Given the description of an element on the screen output the (x, y) to click on. 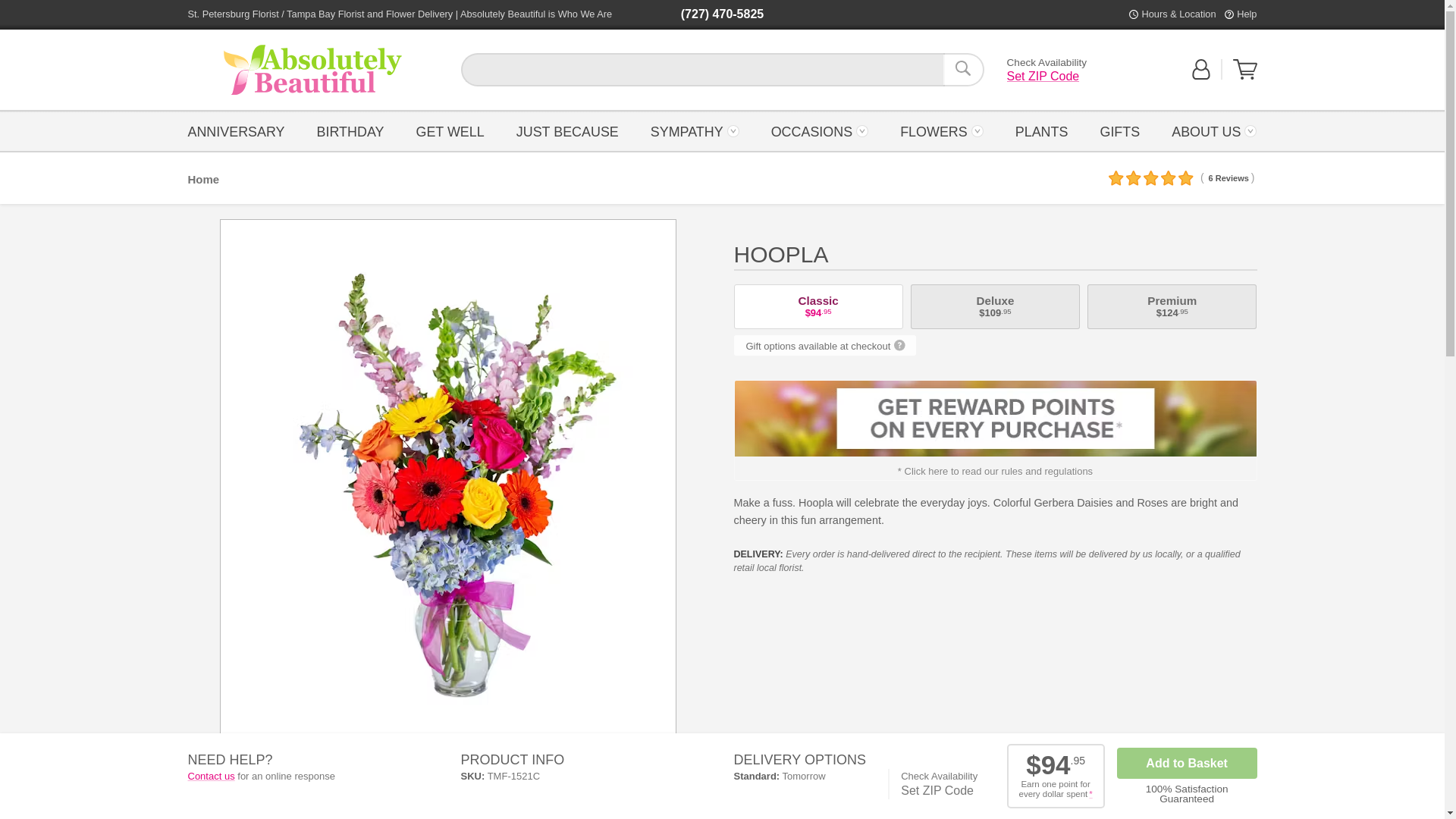
Back to the Home Page (312, 70)
ANNIVERSARY (240, 129)
Set ZIP Code (1043, 76)
GET WELL (450, 129)
Access Your Account (1200, 69)
View Your Shopping Cart (1245, 76)
BIRTHDAY (349, 129)
Access Your Account (1200, 69)
JUST BECAUSE (312, 70)
View Your Shopping Cart (567, 129)
SYMPATHY (1245, 69)
Help (695, 129)
Search (1246, 13)
Flower Manager Logo (963, 69)
